Given the description of an element on the screen output the (x, y) to click on. 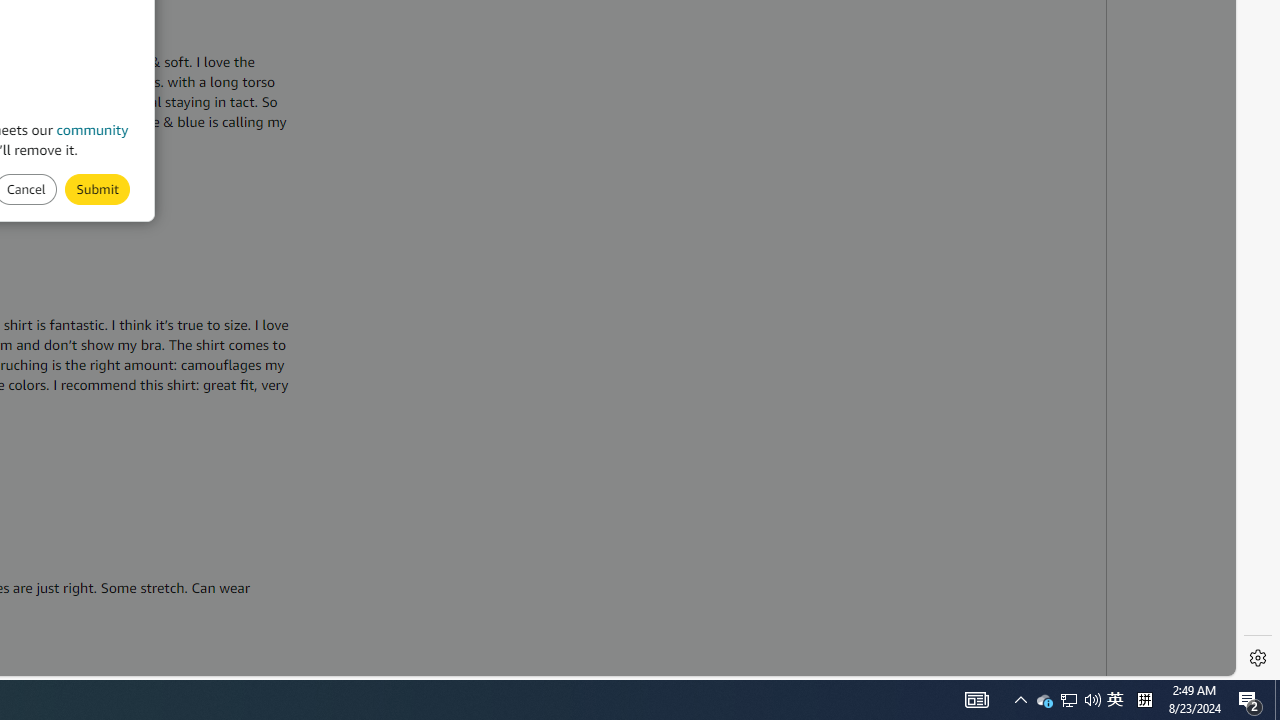
Mark this review for abuse BUTTON (97, 188)
